Given the description of an element on the screen output the (x, y) to click on. 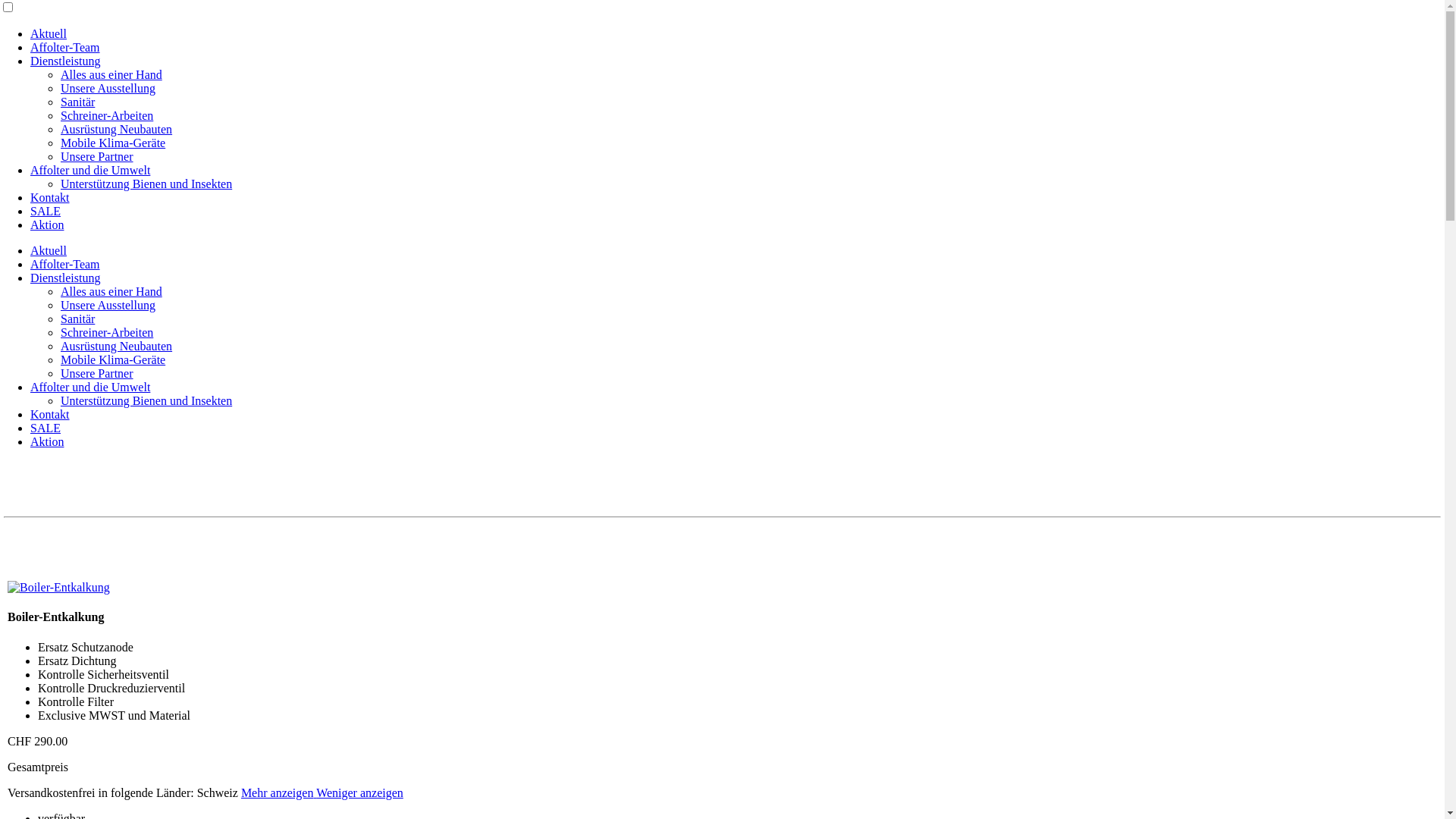
Affolter und die Umwelt Element type: text (90, 386)
Dienstleistung Element type: text (65, 60)
Affolter-Team Element type: text (65, 263)
Aktion Element type: text (46, 441)
Unsere Ausstellung Element type: text (107, 87)
Schreiner-Arbeiten Element type: text (106, 332)
Unsere Partner Element type: text (96, 156)
Aktion Element type: text (46, 224)
SALE Element type: text (45, 210)
Dienstleistung Element type: text (65, 277)
Unsere Ausstellung Element type: text (107, 304)
Alles aus einer Hand Element type: text (111, 291)
Kontakt Element type: text (49, 413)
Alles aus einer Hand Element type: text (111, 74)
Mehr anzeigen Weniger anzeigen Element type: text (322, 792)
Aktuell Element type: text (48, 33)
Aktuell Element type: text (48, 250)
Unsere Partner Element type: text (96, 373)
Kontakt Element type: text (49, 197)
Affolter und die Umwelt Element type: text (90, 169)
Affolter-Team Element type: text (65, 46)
SALE Element type: text (45, 427)
Schreiner-Arbeiten Element type: text (106, 115)
